Given the description of an element on the screen output the (x, y) to click on. 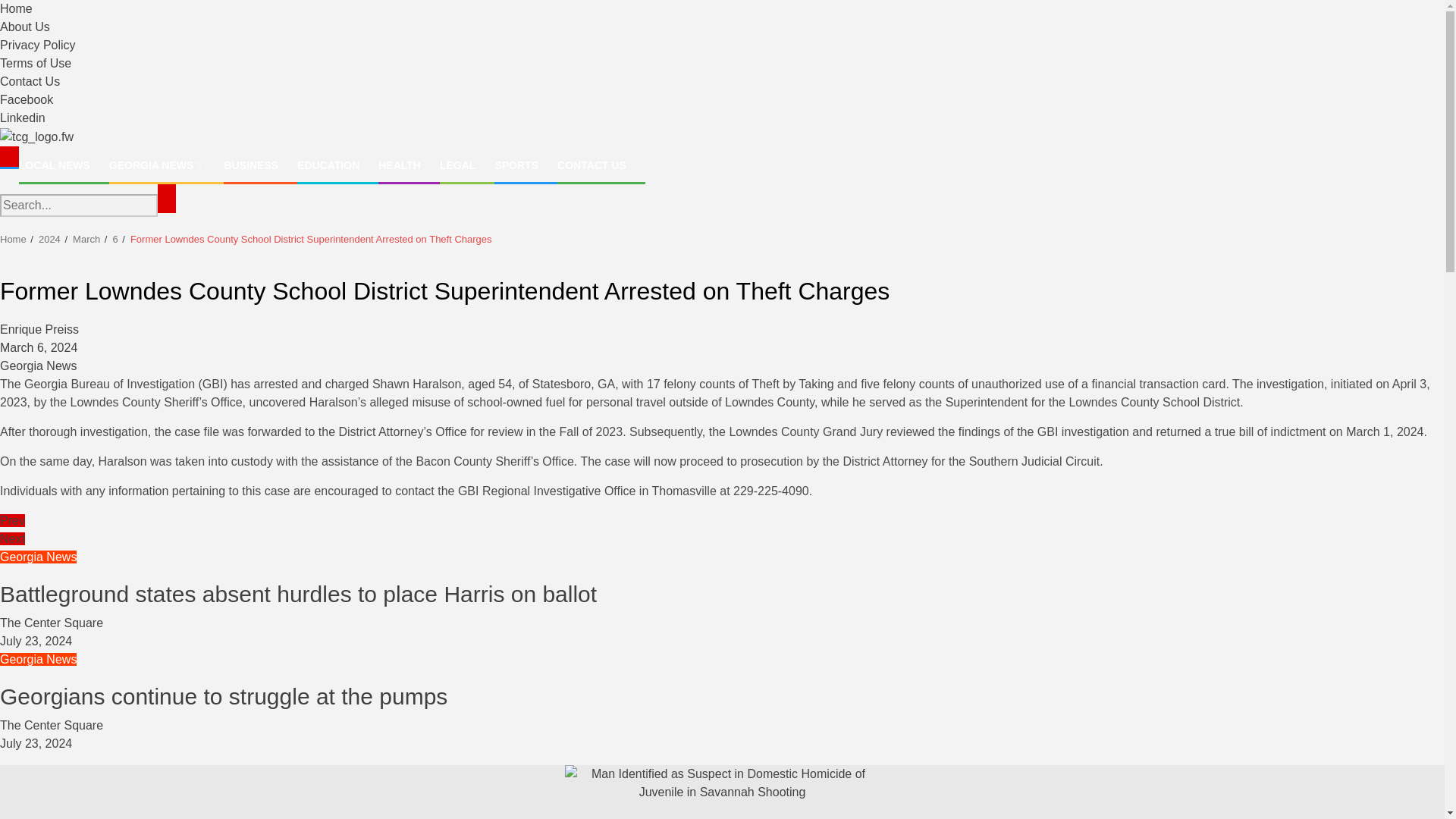
Enrique Preiss (39, 328)
EDUCATION (328, 164)
Linkedin (22, 117)
March (86, 238)
2024 (50, 238)
March 6, 2024 (38, 347)
Home (13, 238)
Georgia News (38, 365)
Terms of Use (35, 62)
LOCAL NEWS (54, 164)
SPORTS (516, 164)
CONTACT US (591, 164)
GEORGIA NEWS (157, 164)
